Given the description of an element on the screen output the (x, y) to click on. 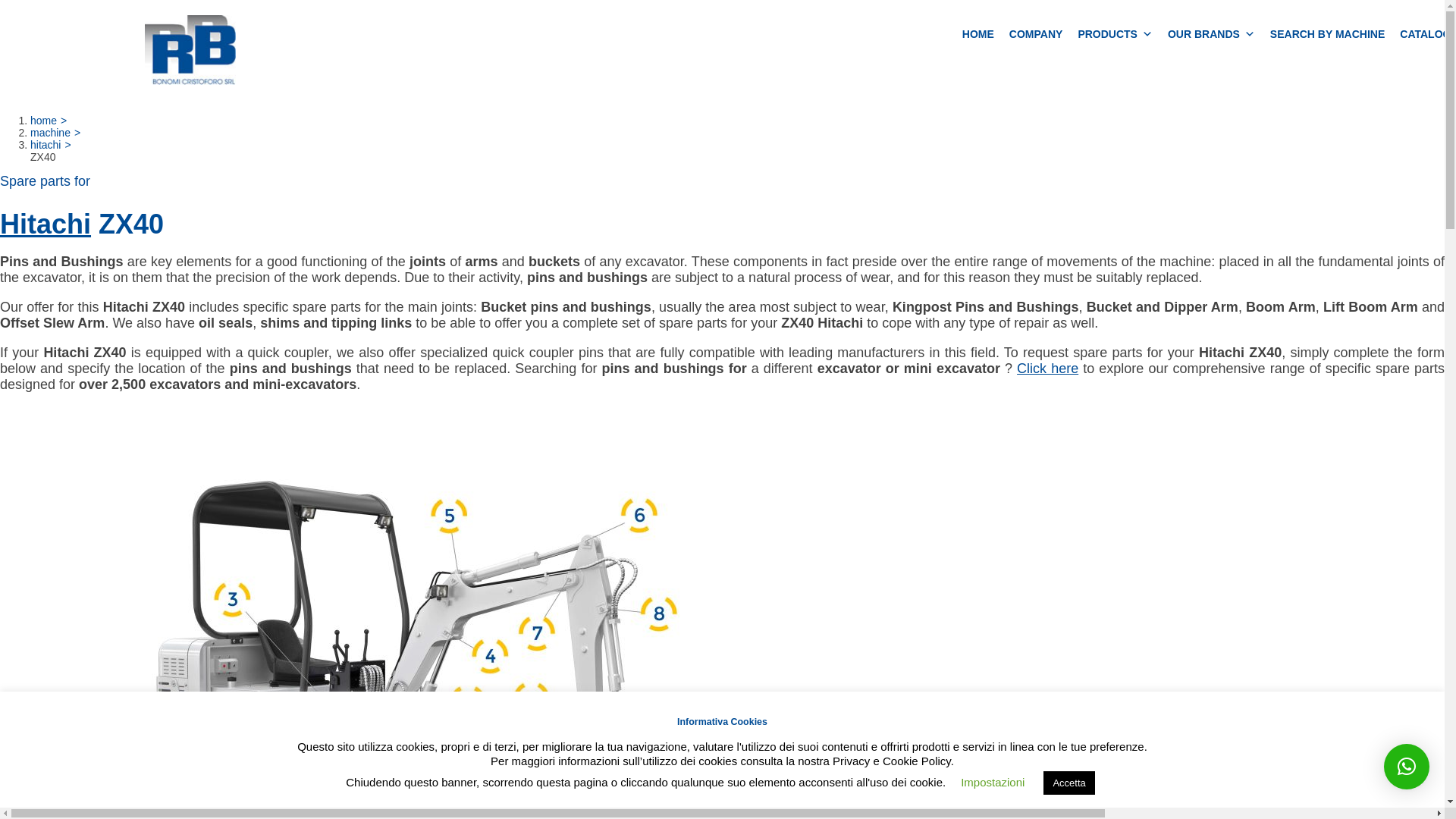
CATALOGS (1423, 34)
COMPANY (1035, 34)
HOME (978, 34)
SEARCH BY MACHINE (1326, 34)
PRODUCTS (1115, 34)
OUR BRANDS (1211, 34)
